Given the description of an element on the screen output the (x, y) to click on. 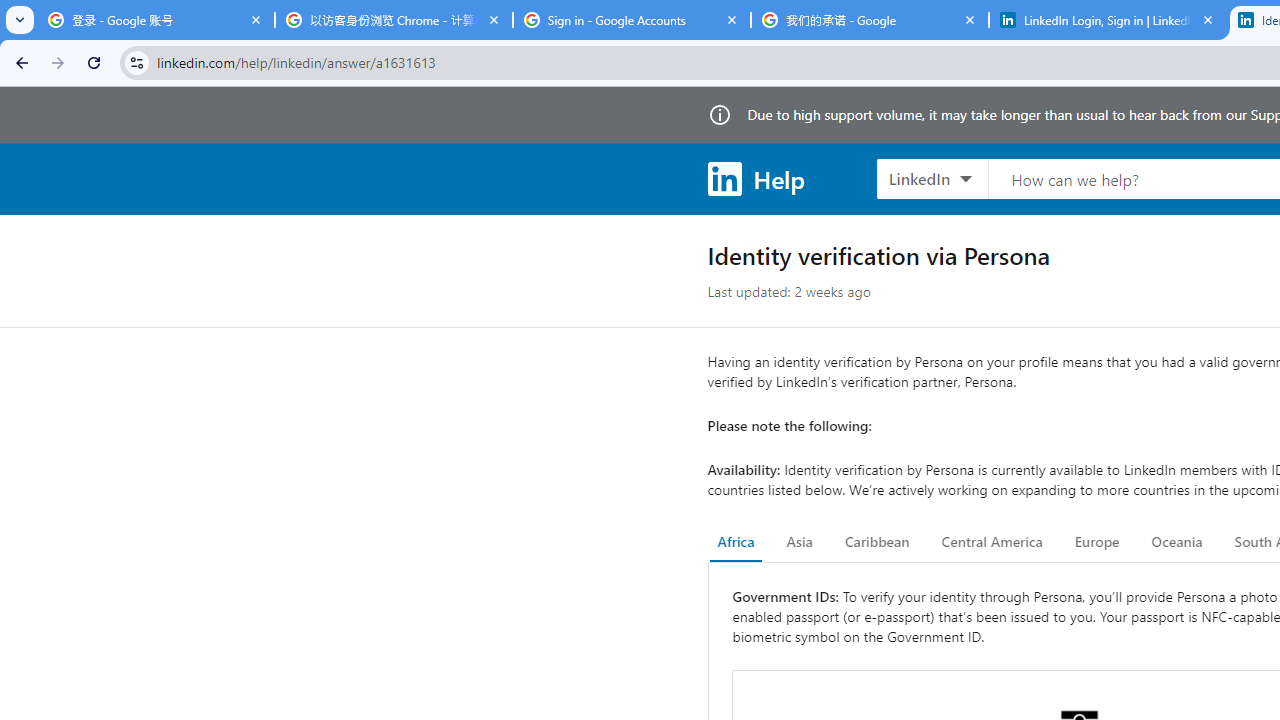
Africa (735, 542)
Central America (991, 542)
Oceania (1176, 542)
